Given the description of an element on the screen output the (x, y) to click on. 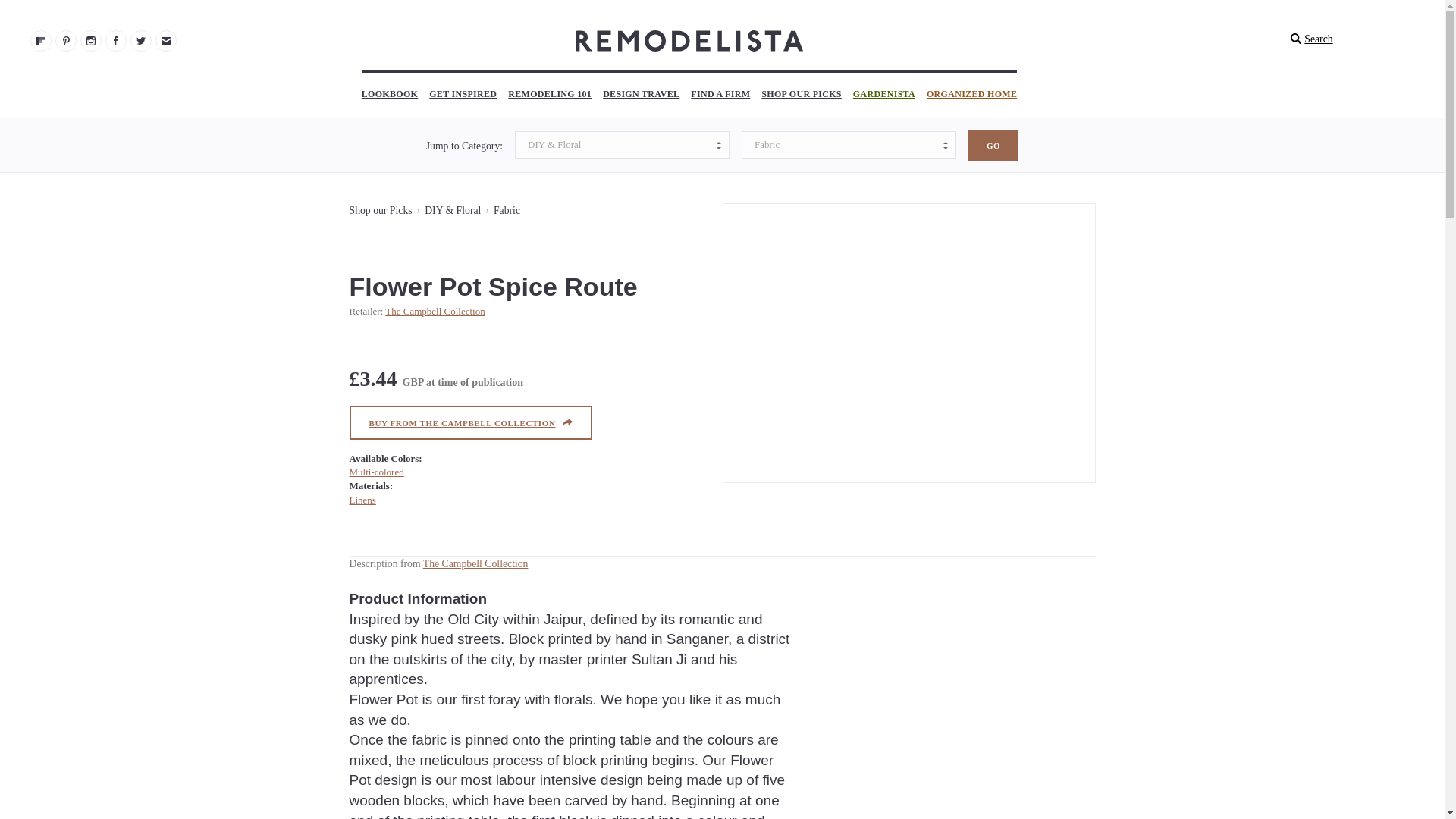
LOOKBOOK (389, 94)
REMODELING 101 (549, 94)
GO (992, 144)
GET INSPIRED (462, 94)
Pound Sterling (412, 382)
